Given the description of an element on the screen output the (x, y) to click on. 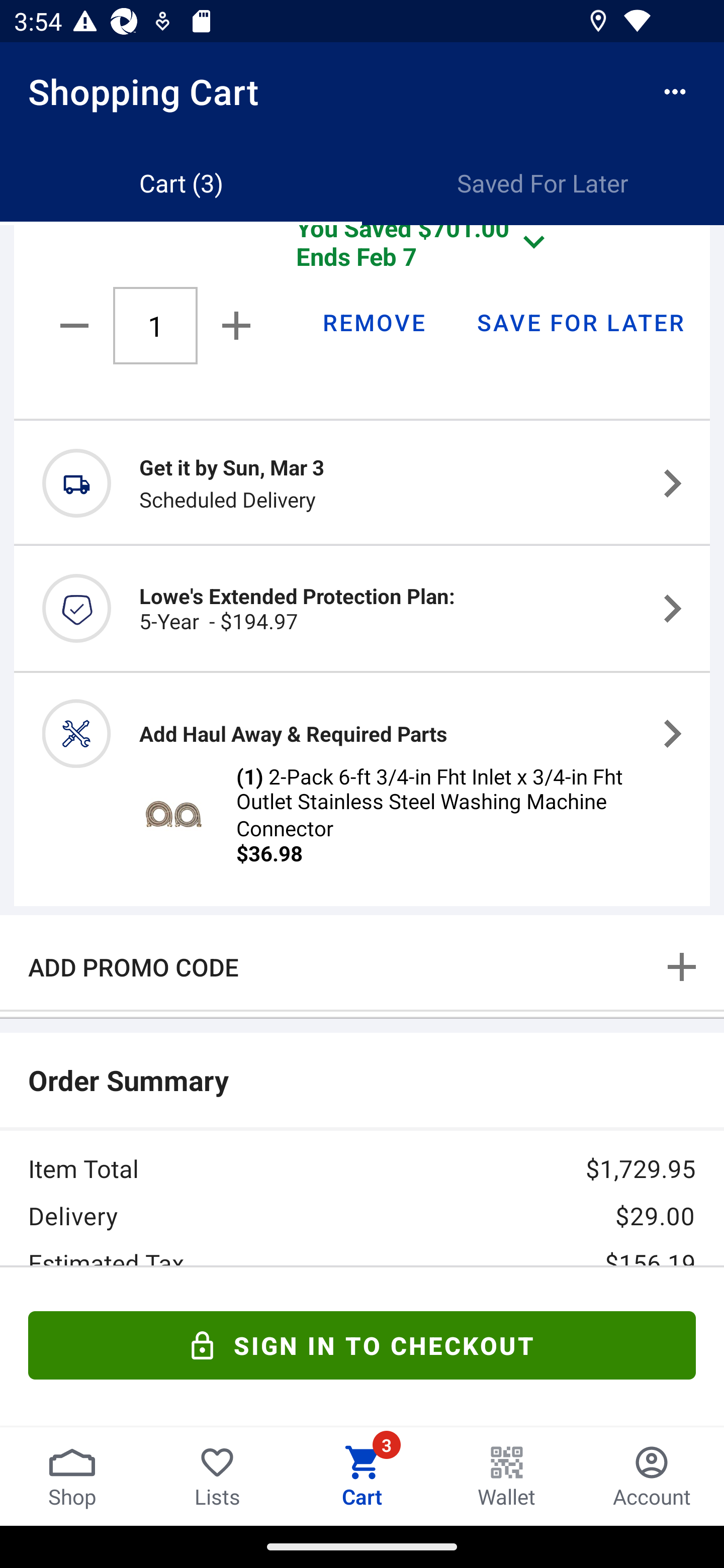
More options (674, 91)
Saved For Later (543, 183)
You Saved $701.00
Ends Feb 7 (425, 252)
REMOVE (373, 321)
SAVE FOR LATER (580, 321)
1 (154, 324)
increase quantity (232, 325)
decrease quantity (76, 325)
Get it by Sun, Mar 3 Scheduled Delivery (361, 482)
Lowe's Extended Protection Plan:
5-Year  - $194.97 (361, 608)
ADD PROMO CODE (362, 966)
You're saving $701.00 off your items! (361, 1341)
Shop (72, 1475)
Lists (216, 1475)
Wallet (506, 1475)
Account (651, 1475)
